Given the description of an element on the screen output the (x, y) to click on. 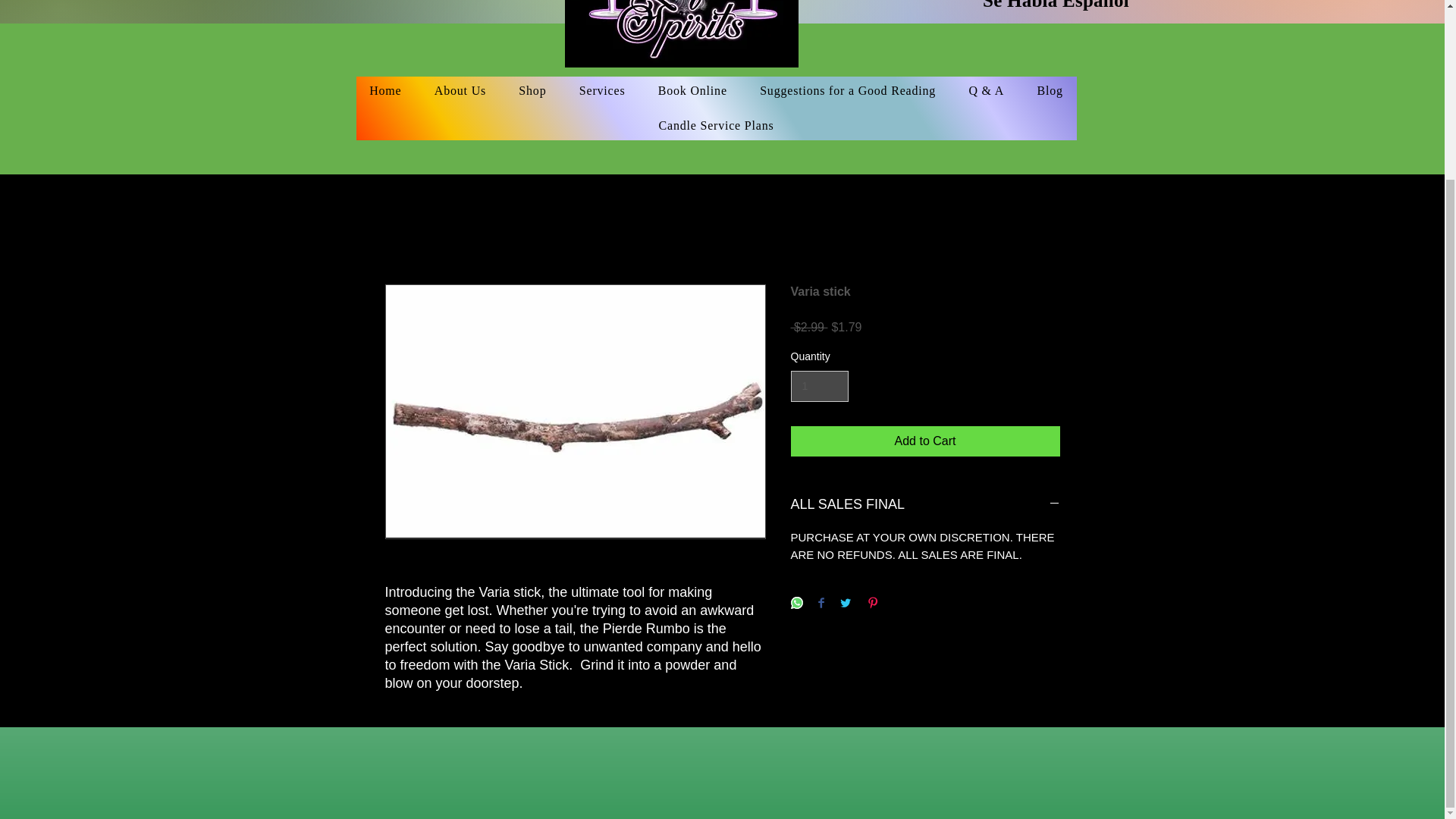
Shop (532, 90)
Services (602, 90)
Add to Cart (924, 440)
Candle Service Plans (716, 125)
Book Online (692, 90)
1 (818, 386)
About Us (459, 90)
Suggestions for a Good Reading (847, 90)
Home (385, 90)
ALL SALES FINAL (924, 504)
Blog (1050, 90)
